Given the description of an element on the screen output the (x, y) to click on. 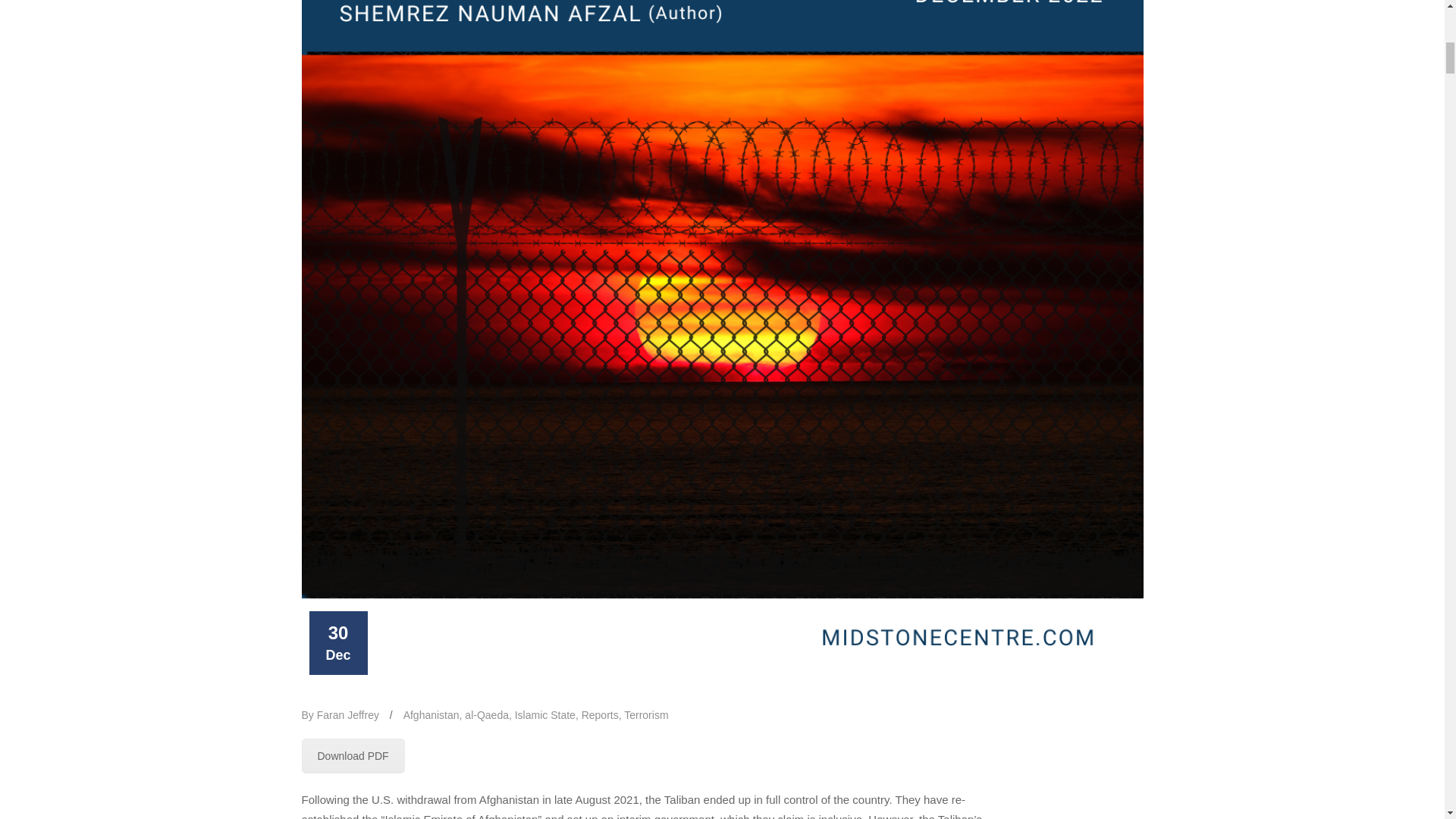
Terrorism (646, 715)
Afghanistan (431, 715)
Download PDF (352, 755)
al-Qaeda (486, 715)
Reports (599, 715)
Islamic State (545, 715)
